Given the description of an element on the screen output the (x, y) to click on. 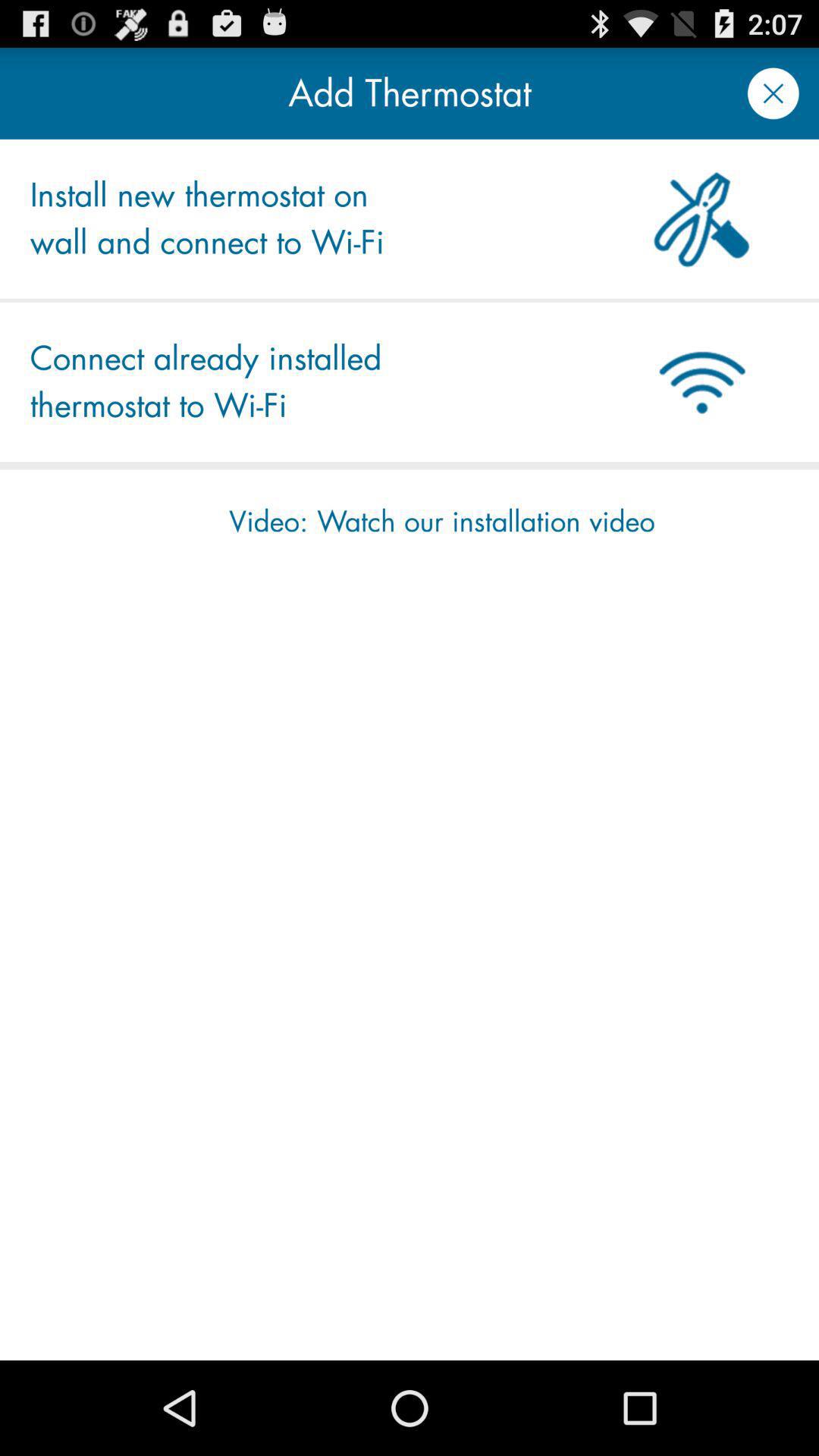
close option to add (773, 93)
